Given the description of an element on the screen output the (x, y) to click on. 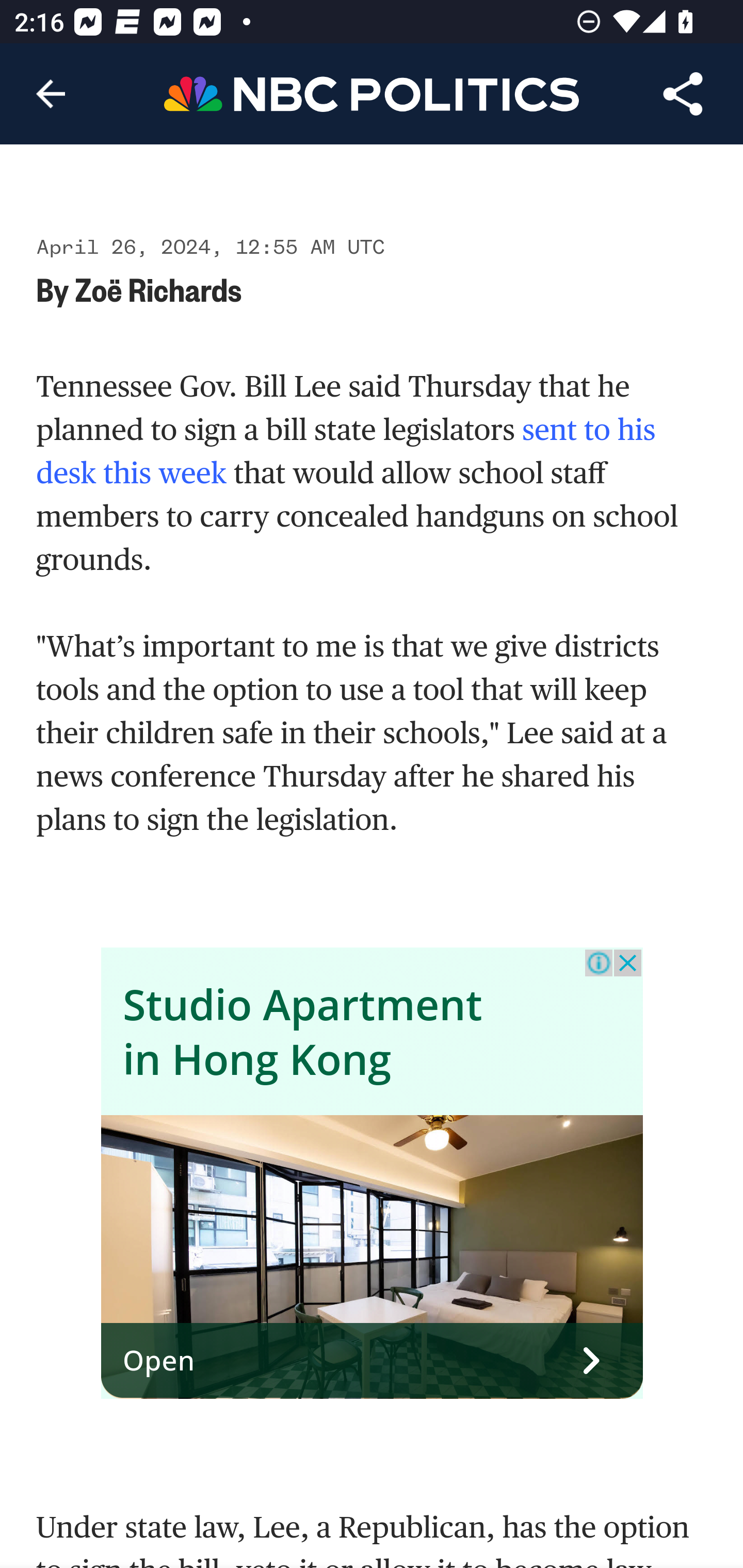
Navigate up (50, 93)
Share Article, button (683, 94)
Header, NBC Politics (371, 93)
sent to his desk this week (346, 450)
apartments-inner2 (372, 1258)
Open (372, 1360)
